Given the description of an element on the screen output the (x, y) to click on. 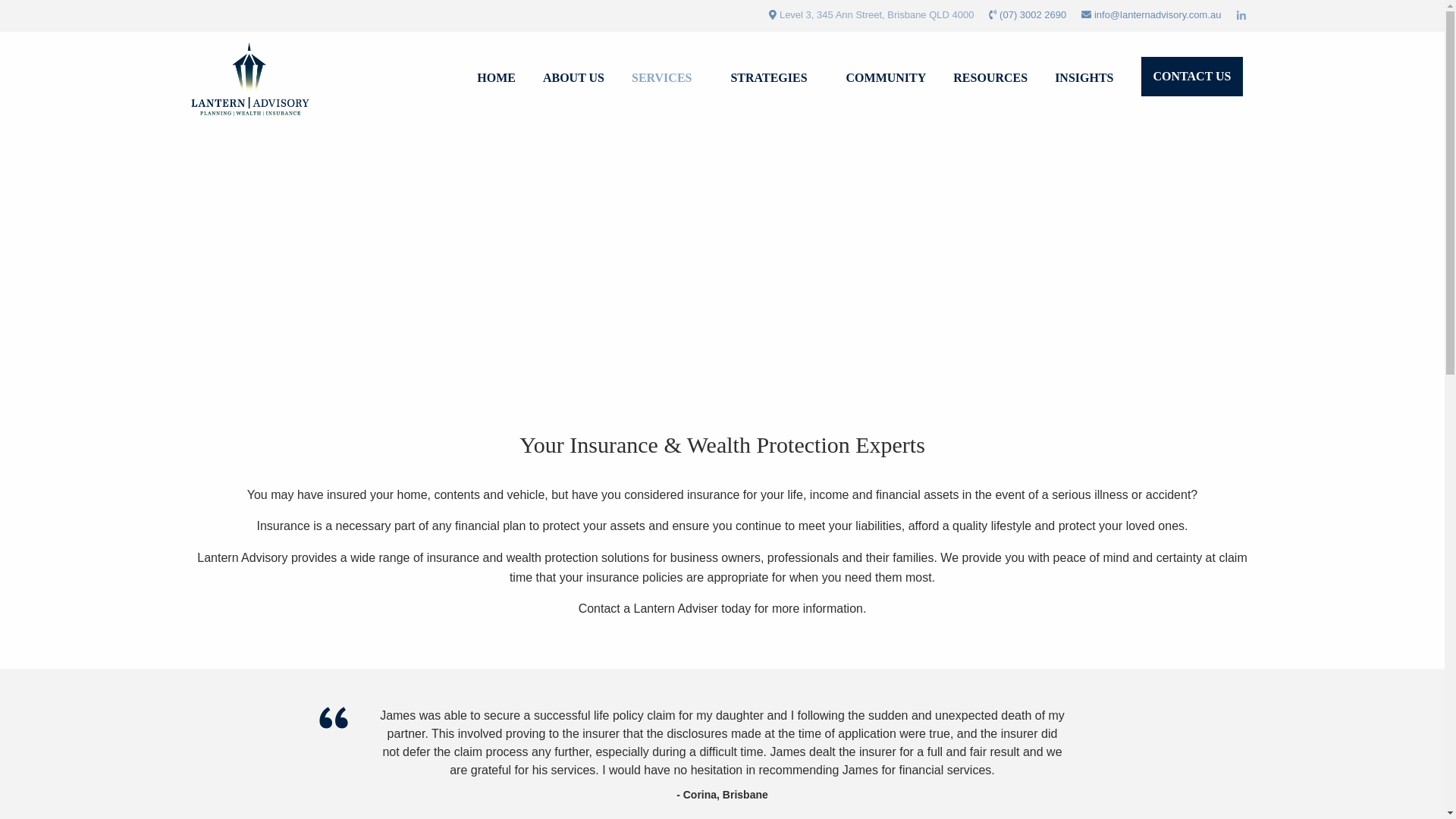
CONTACT US Element type: text (1191, 76)
SERVICES Element type: text (666, 79)
Lantern Advisory Element type: hover (252, 79)
INSIGHTS Element type: text (1083, 79)
STRATEGIES Element type: text (774, 79)
COMMUNITY Element type: text (886, 79)
ABOUT US Element type: text (573, 79)
RESOURCES Element type: text (990, 79)
(07) 3002 2690 Element type: text (1032, 14)
HOME Element type: text (495, 79)
info@lanternadvisory.com.au Element type: text (1157, 14)
